Given the description of an element on the screen output the (x, y) to click on. 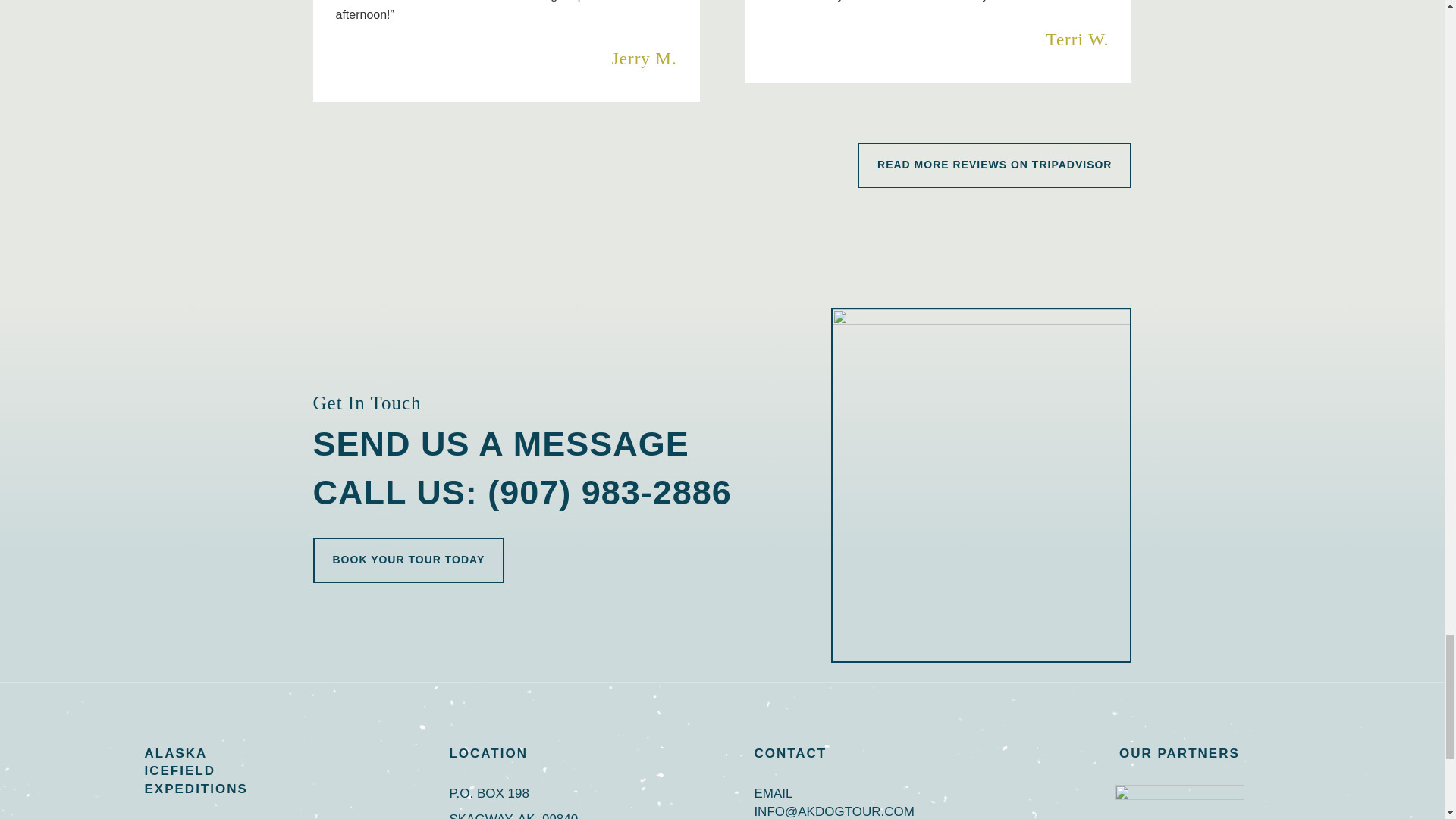
READ MORE REVIEWS ON TRIPADVISOR (994, 165)
Follow on Youtube (224, 815)
BOOK YOUR TOUR TODAY (408, 560)
AIE Website 8 copy (980, 484)
Follow on Instagram (191, 815)
temscoLogo (1179, 794)
Follow on Facebook (157, 815)
